Given the description of an element on the screen output the (x, y) to click on. 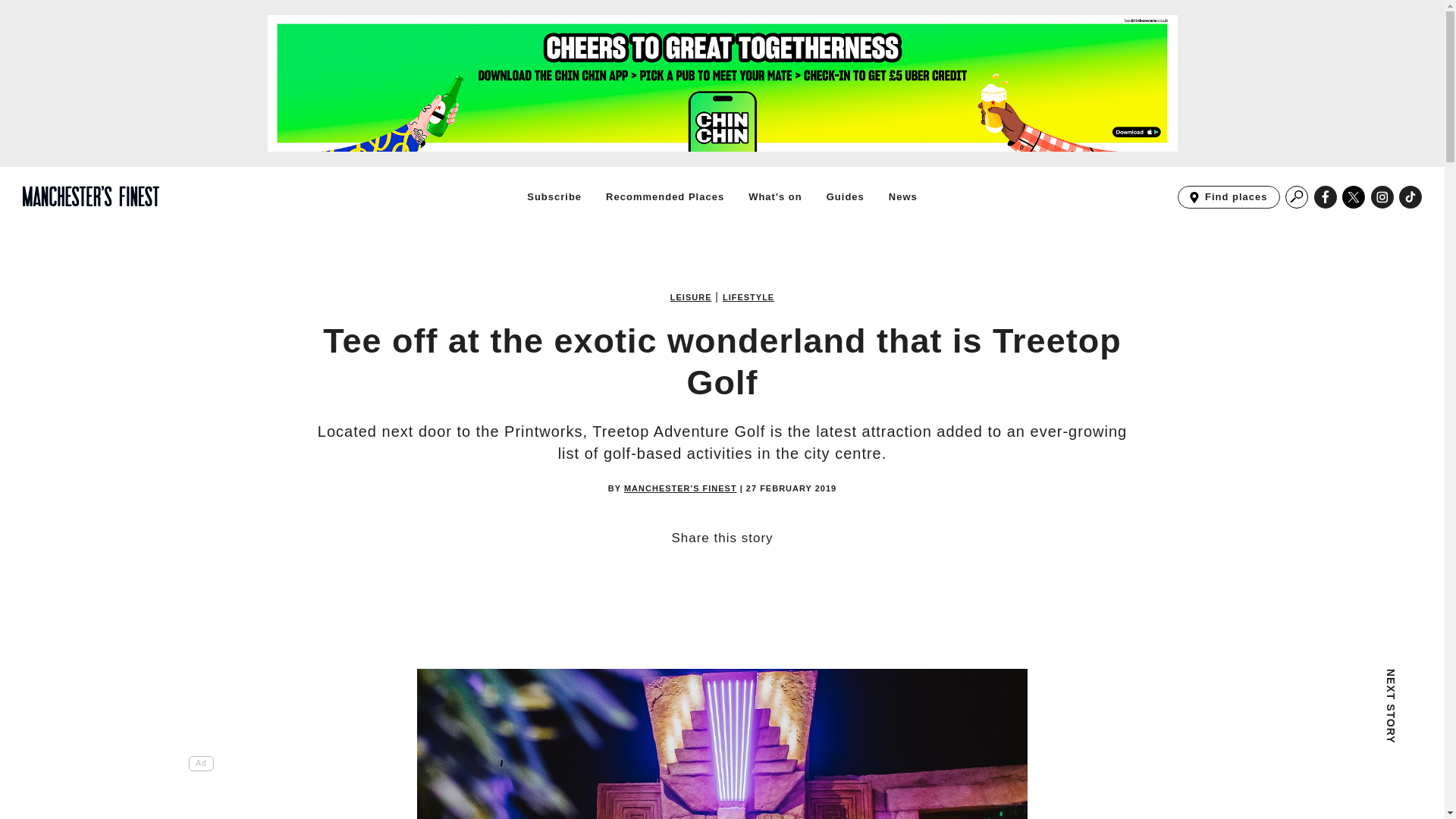
Go to Manchester's Finest Instagram profile (1382, 196)
Guides (845, 196)
Subscribe (1228, 196)
What's on (553, 196)
Search Manchester's Finest (775, 196)
News (1296, 196)
Go to Manchester's Finest X profile (902, 196)
Go to Manchester's Finest TikTok profile (1353, 196)
LIFESTYLE (1410, 196)
Go to Manchester's Finest X profile (748, 297)
MANCHESTER'S FINEST (1353, 196)
Recommended Places (680, 487)
NEXT STORY (664, 196)
Go to Manchester's Finest Instagram profile (1297, 744)
